Given the description of an element on the screen output the (x, y) to click on. 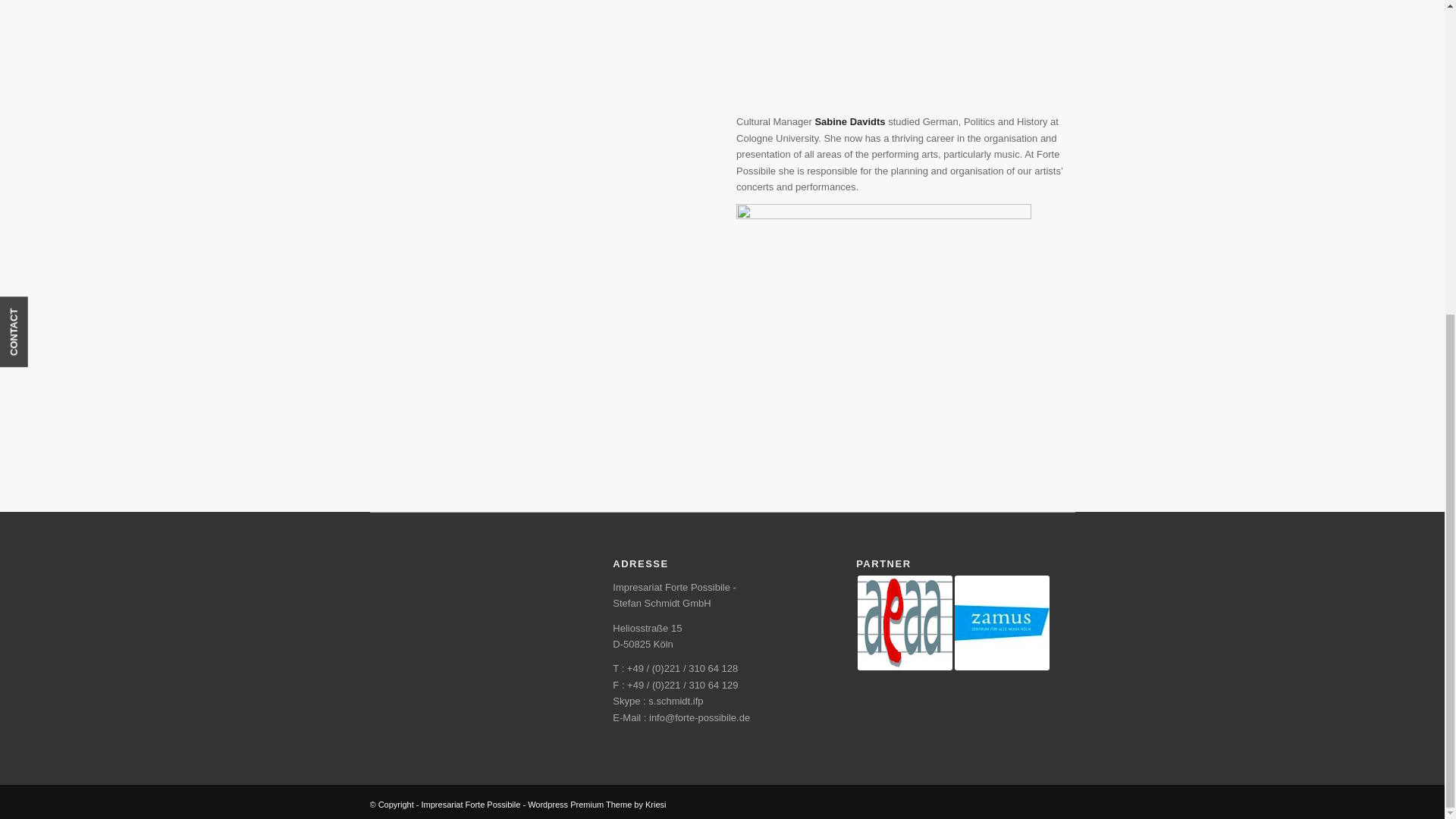
Sabine Davidts (883, 301)
Impresariat Forte Possibile (471, 804)
Wordpress Premium Theme by Kriesi (596, 804)
